Given the description of an element on the screen output the (x, y) to click on. 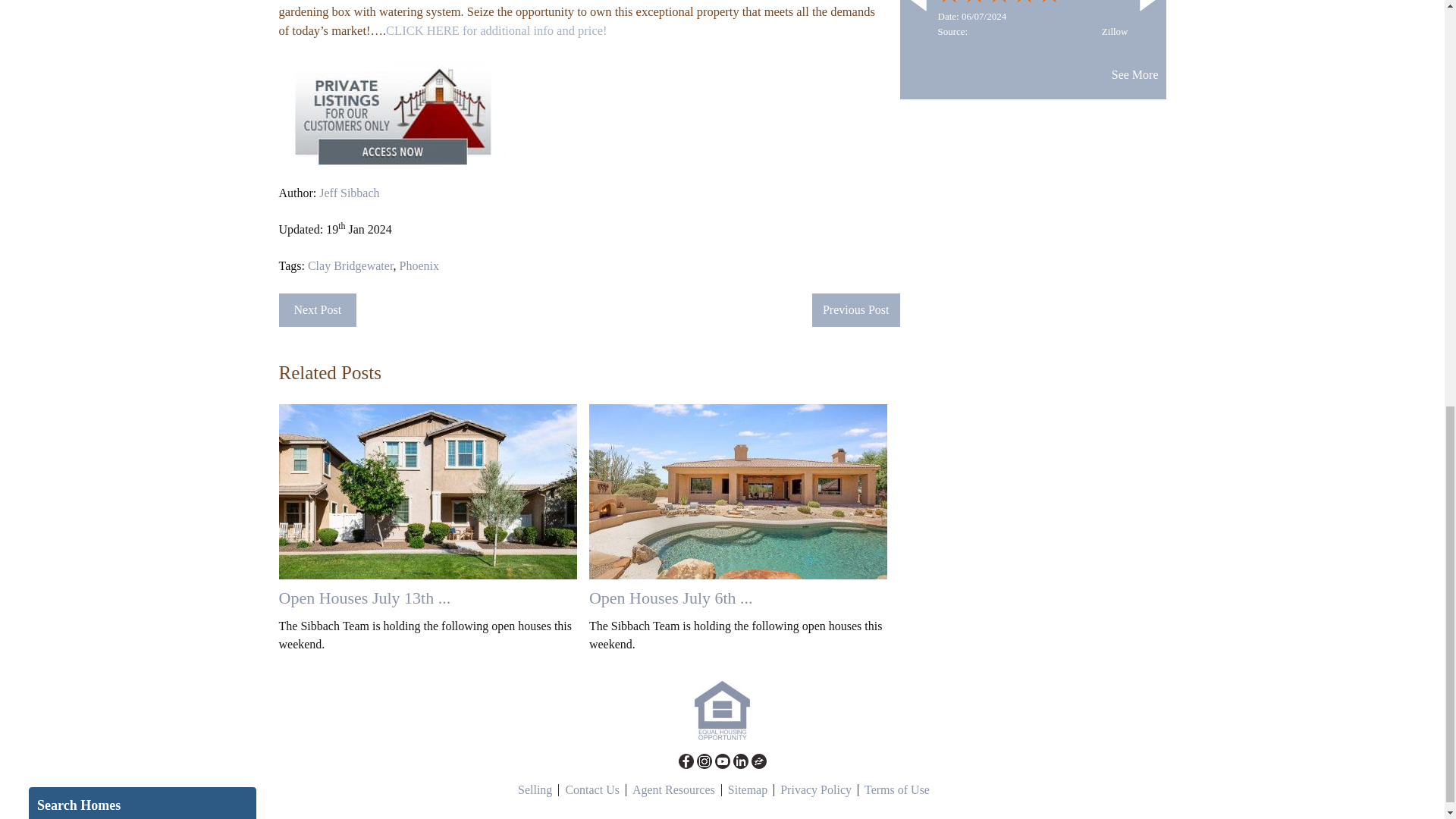
CLICK HERE for additional info and price! (496, 30)
Search (112, 329)
